Given the description of an element on the screen output the (x, y) to click on. 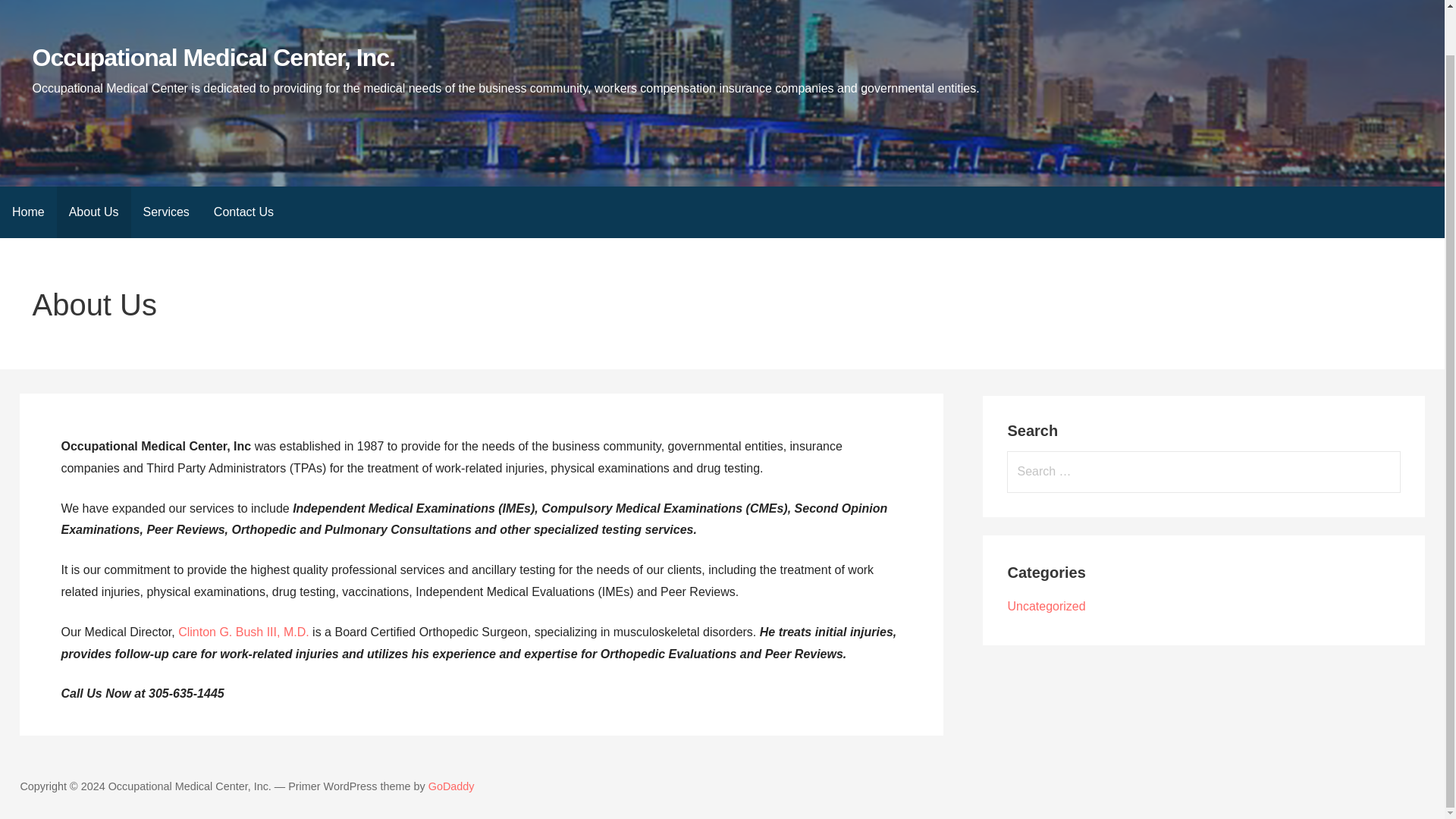
Clinton G. Bush III, M.D. (242, 631)
Services (165, 211)
Home (28, 211)
Contact Us (243, 211)
Uncategorized (1045, 605)
GoDaddy (451, 786)
About Us (93, 211)
Occupational Medical Center, Inc. (213, 57)
